Given the description of an element on the screen output the (x, y) to click on. 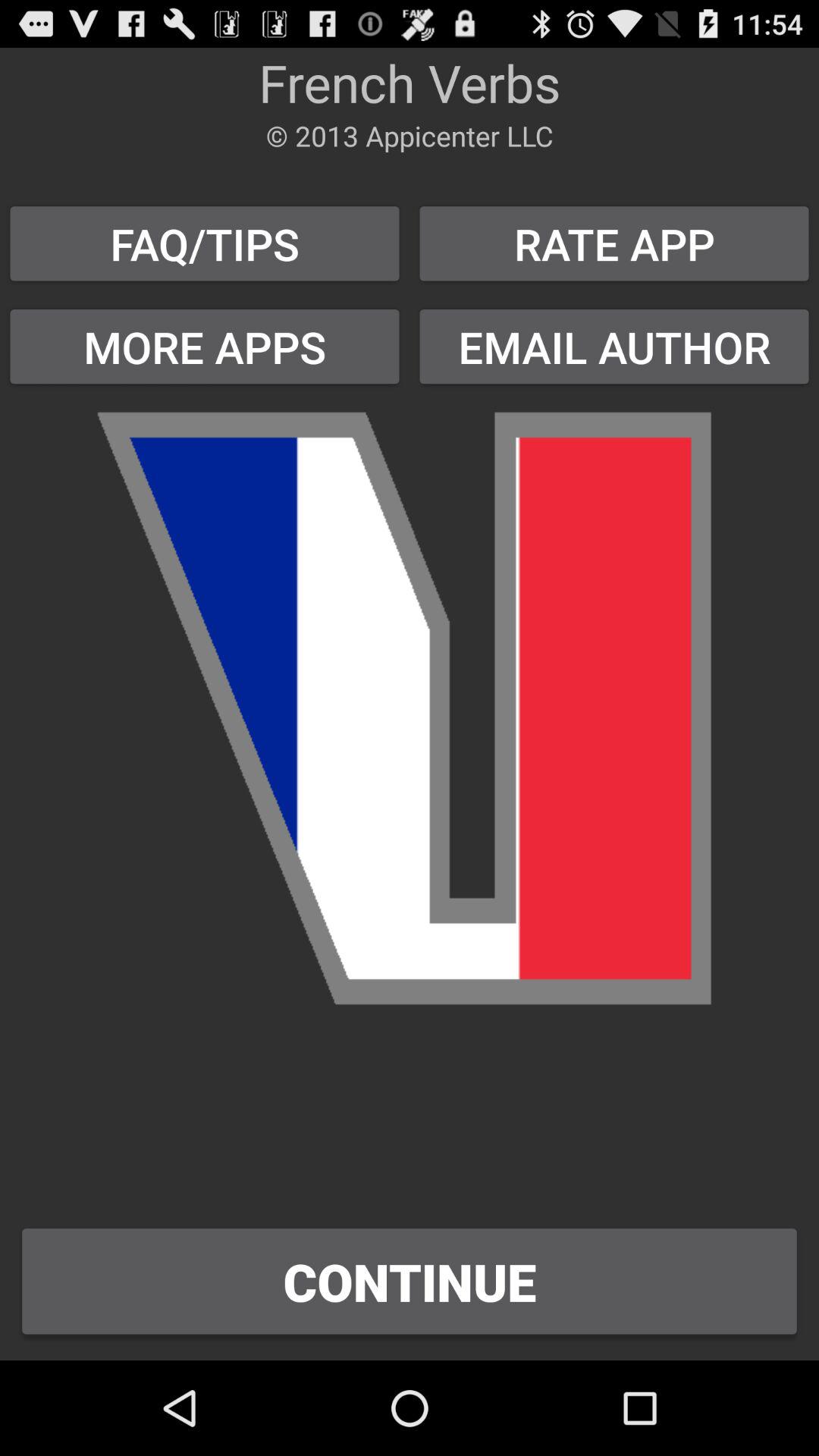
select item below faq/tips icon (204, 346)
